Given the description of an element on the screen output the (x, y) to click on. 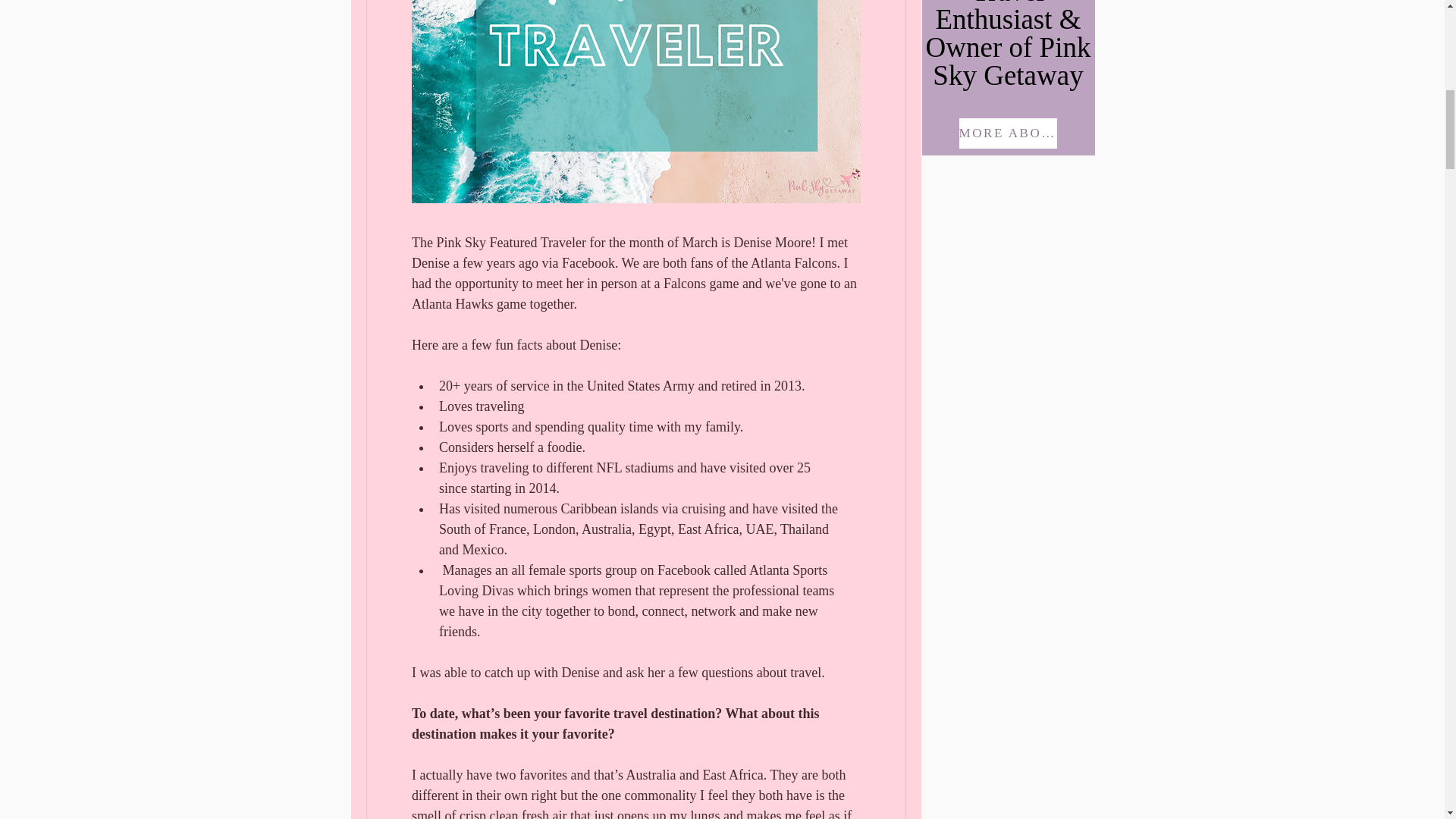
MORE ABOUT ME (1007, 132)
